Given the description of an element on the screen output the (x, y) to click on. 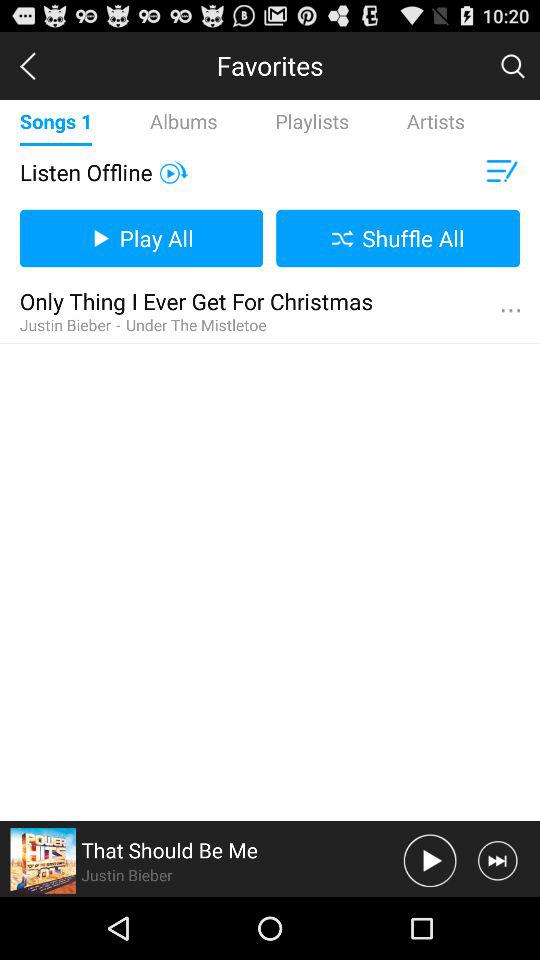
go to menu botten (510, 311)
